Given the description of an element on the screen output the (x, y) to click on. 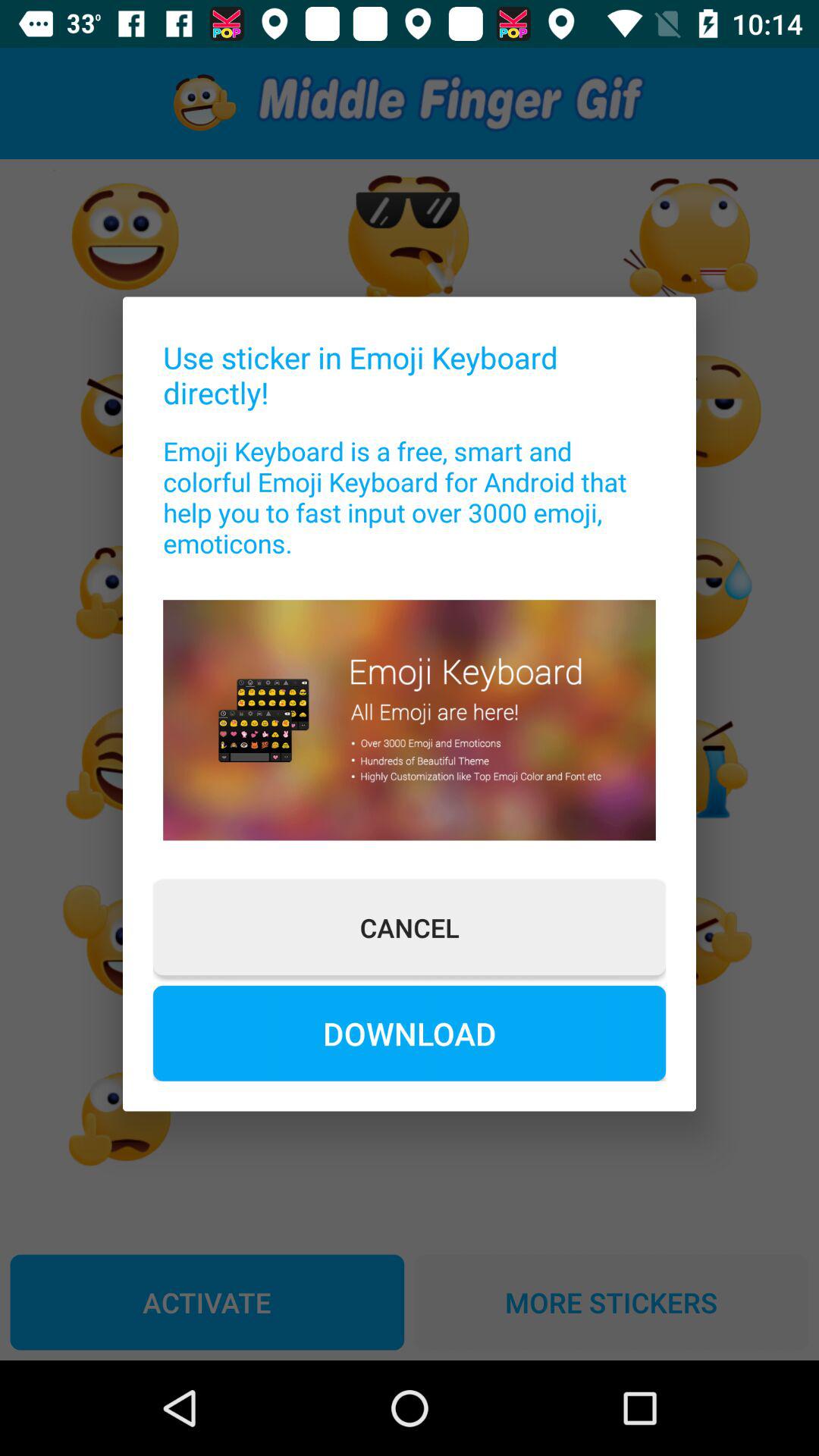
flip until cancel button (409, 927)
